Given the description of an element on the screen output the (x, y) to click on. 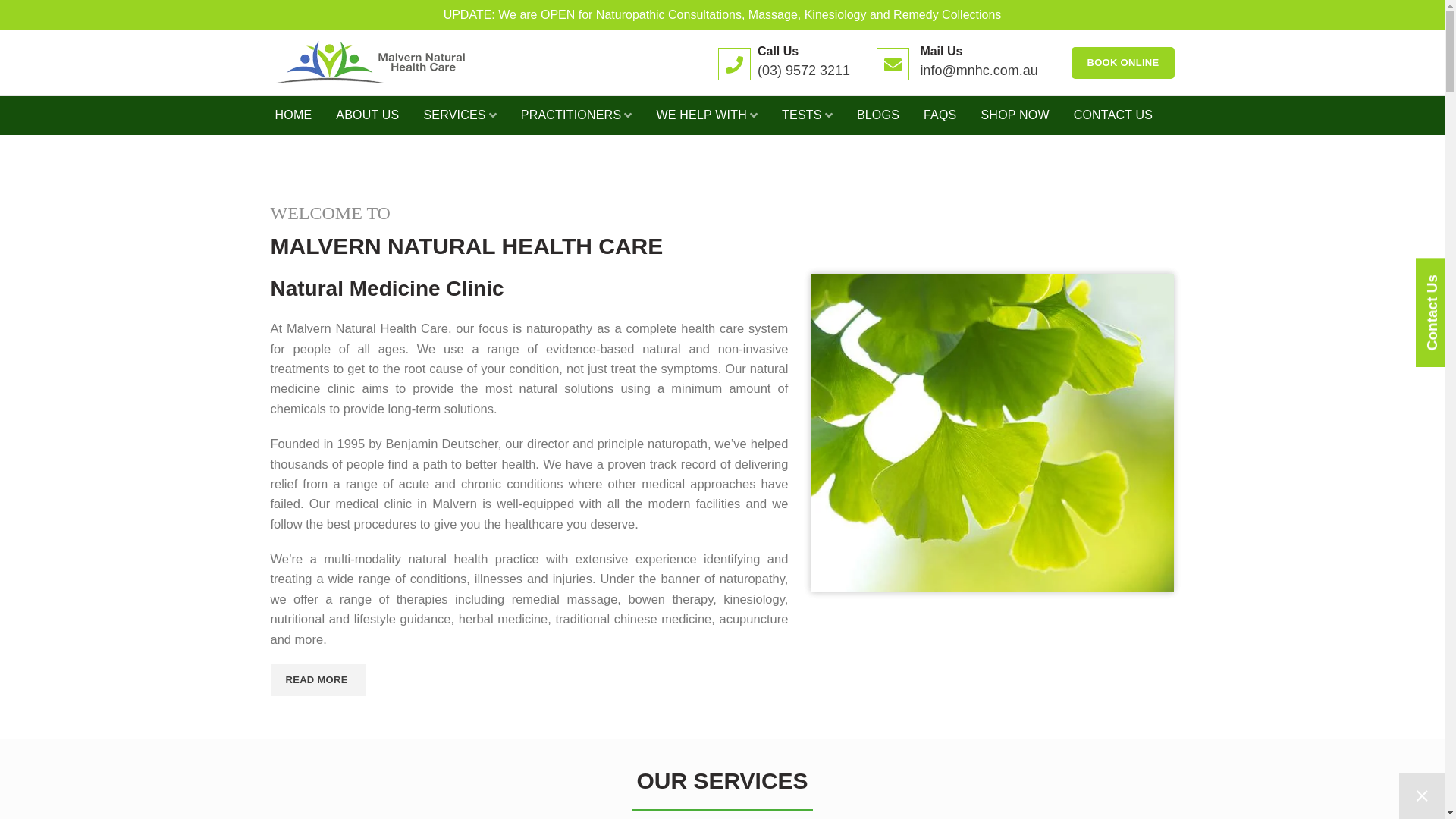
BLOGS Element type: text (877, 114)
CONTACT US Element type: text (1113, 114)
PRACTITIONERS Element type: text (576, 114)
TESTS Element type: text (806, 114)
info@mnhc.com.au Element type: text (978, 70)
SHOP NOW Element type: text (1015, 114)
BOOK ONLINE Element type: text (1122, 62)
SERVICES Element type: text (459, 114)
WE HELP WITH Element type: text (706, 114)
(03) 9572 3211 Element type: text (803, 70)
FAQS Element type: text (939, 114)
HOME Element type: text (292, 114)
ABOUT US Element type: text (367, 114)
